Given the description of an element on the screen output the (x, y) to click on. 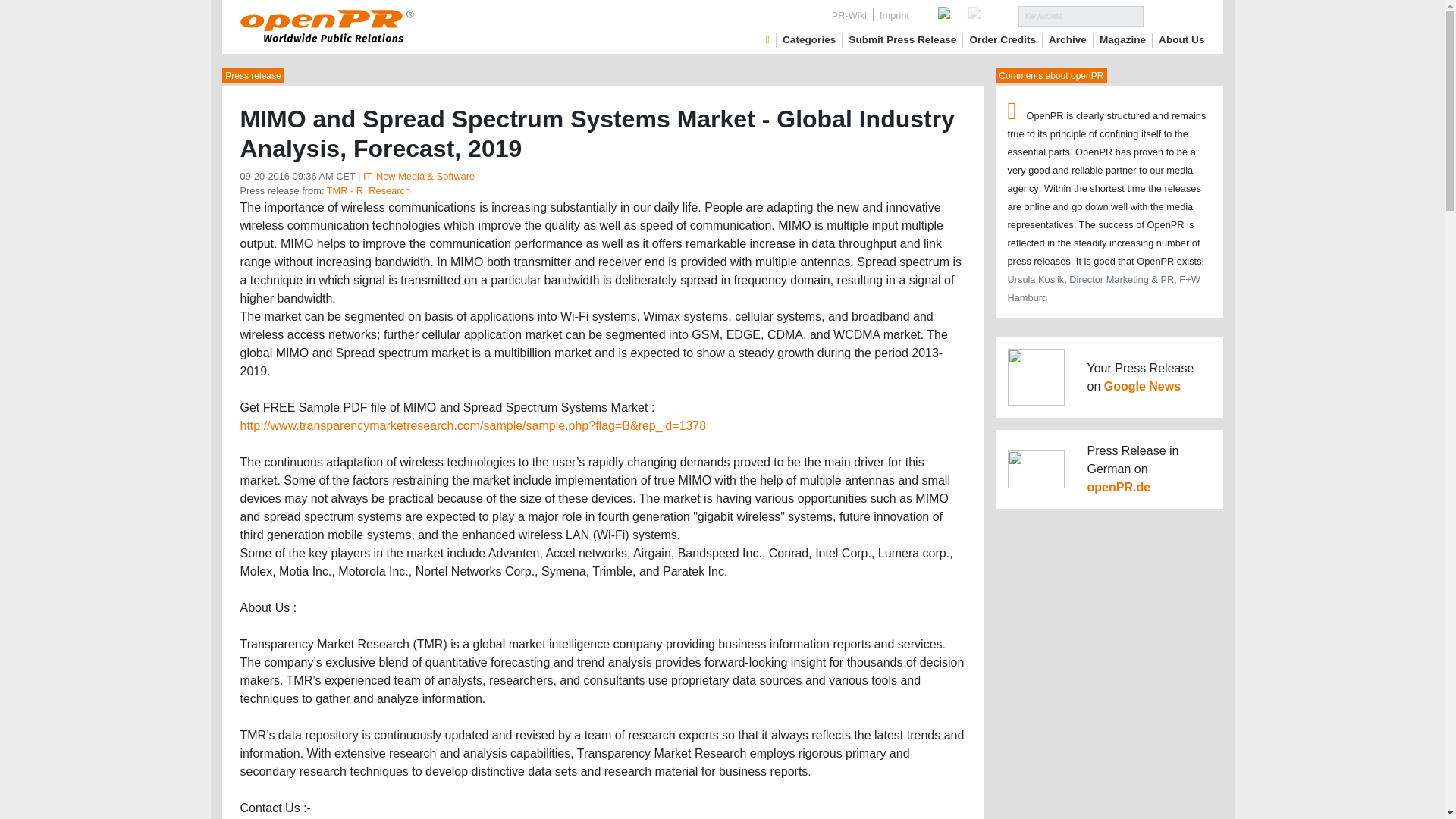
About Us (1181, 39)
Archive (1067, 39)
PR-Wiki (848, 15)
Magazine (1122, 39)
Order Credits (1002, 39)
openPR (767, 39)
Categories (809, 39)
Search   (1173, 15)
Imprint (894, 15)
Submit Press Release (902, 39)
